Given the description of an element on the screen output the (x, y) to click on. 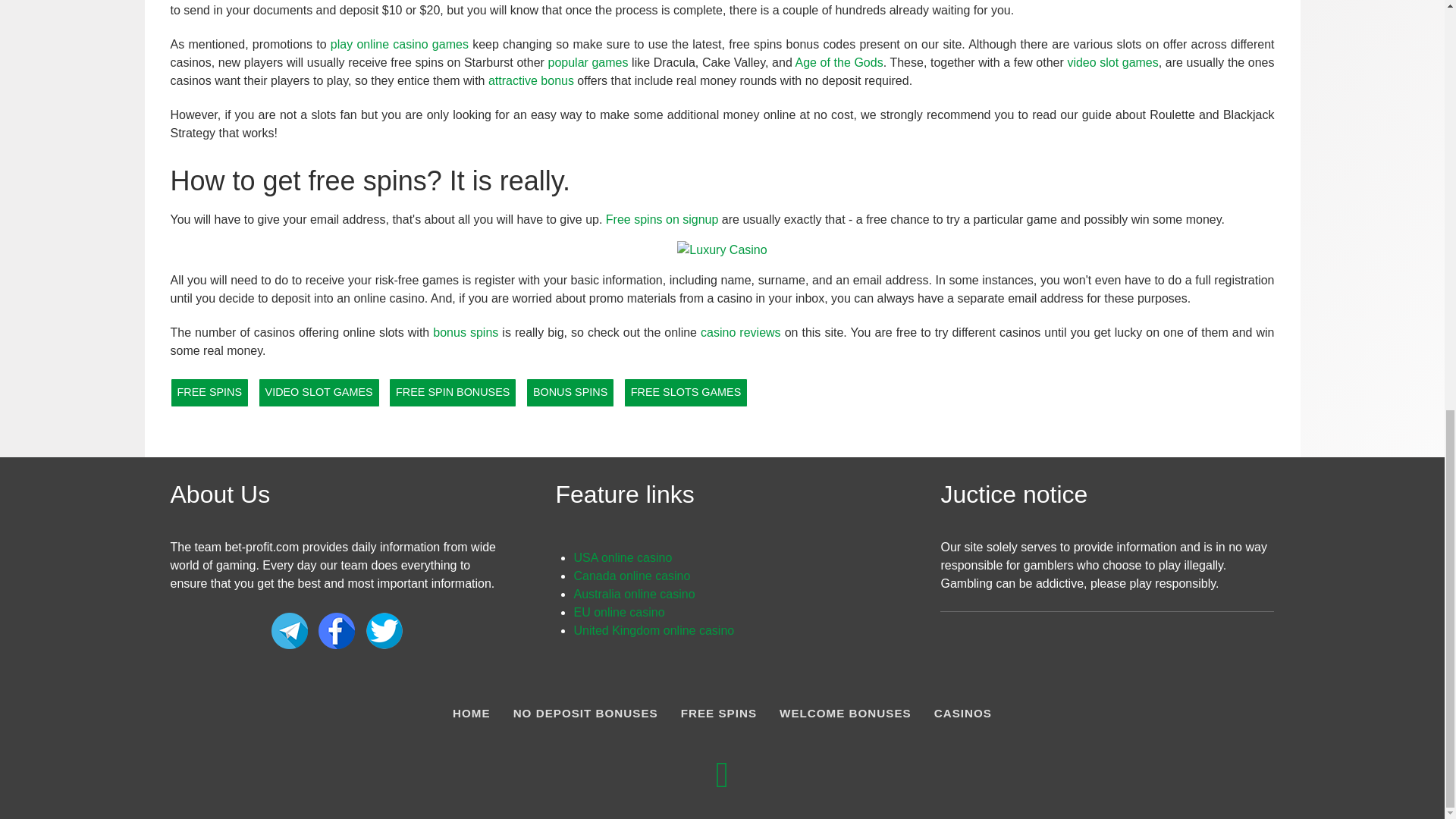
Luxury Casino (722, 248)
play (343, 43)
